Given the description of an element on the screen output the (x, y) to click on. 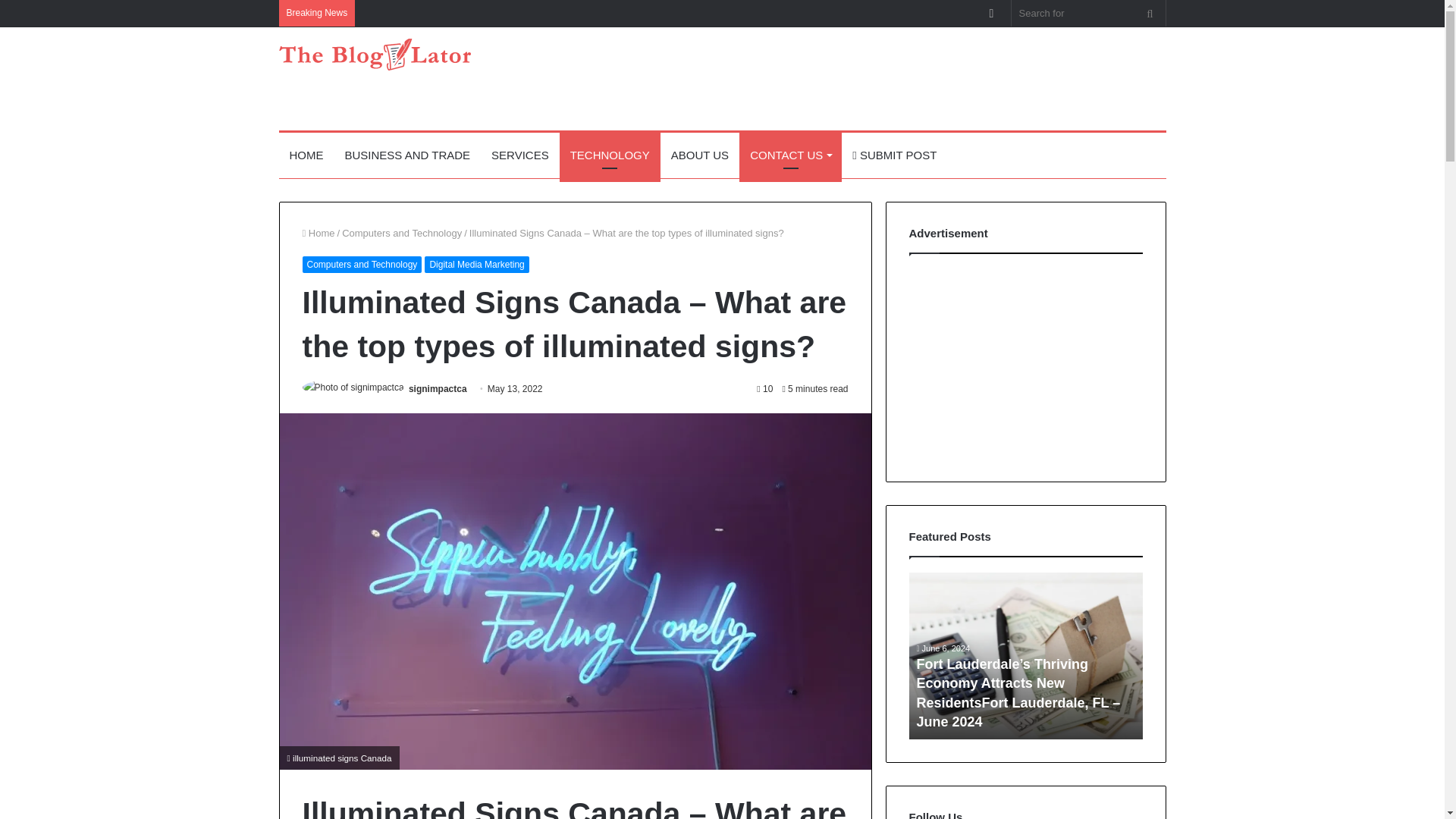
Computers and Technology (401, 233)
SUBMIT POST (894, 155)
ABOUT US (700, 155)
HOME (306, 155)
BUSINESS AND TRADE (406, 155)
Digital Media Marketing (476, 264)
Computers and Technology (361, 264)
signimpactca (438, 388)
TECHNOLOGY (610, 155)
Search for (1149, 13)
